Given the description of an element on the screen output the (x, y) to click on. 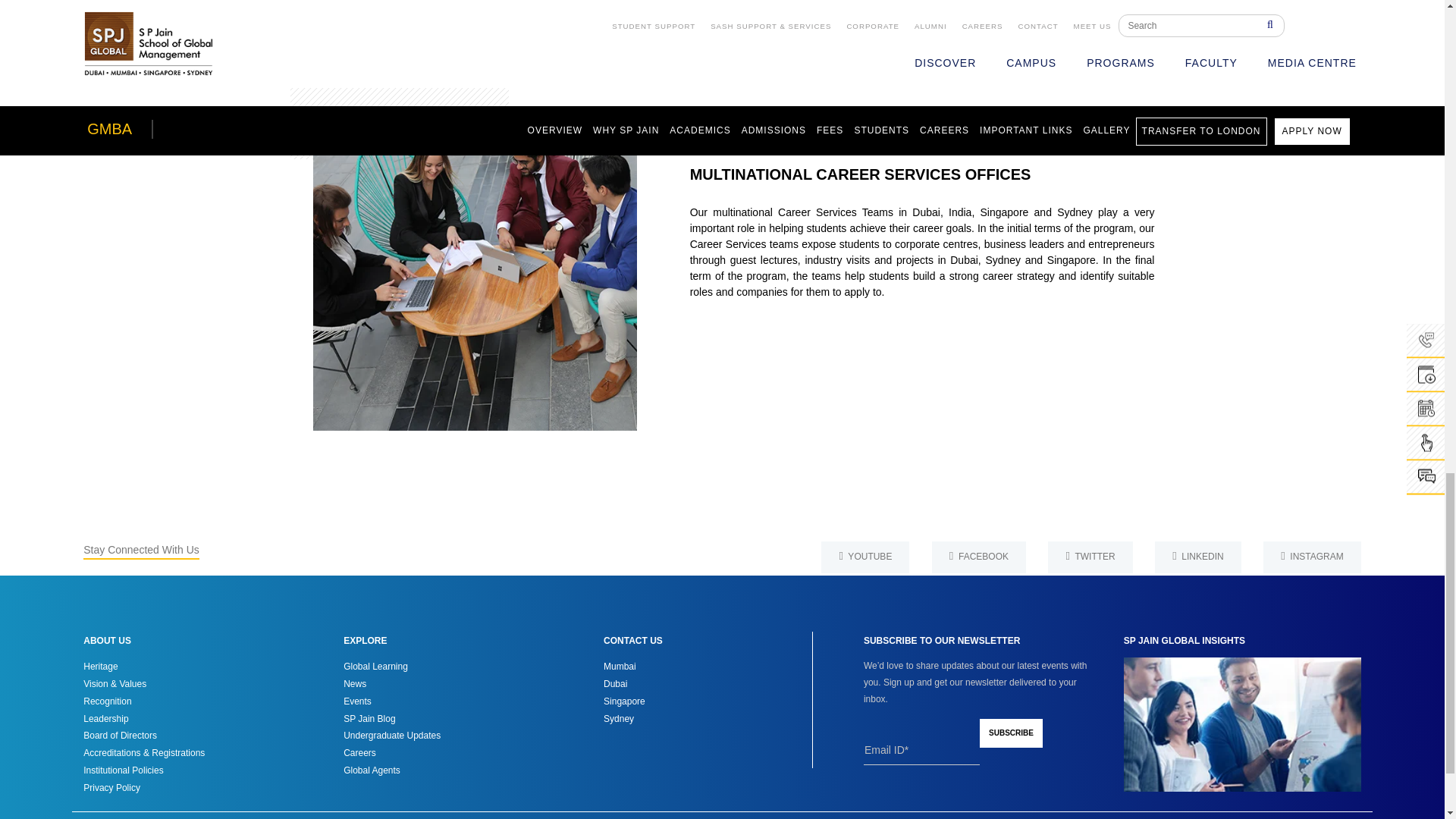
Facebook (978, 556)
Youtube (864, 556)
multinational-career-services-offices (463, 256)
Twitter (1090, 556)
Instagram (1312, 556)
Linkedin (1197, 556)
Subscribe (1010, 733)
sp-jain-gmba-passport-2-excellence (981, 19)
